Given the description of an element on the screen output the (x, y) to click on. 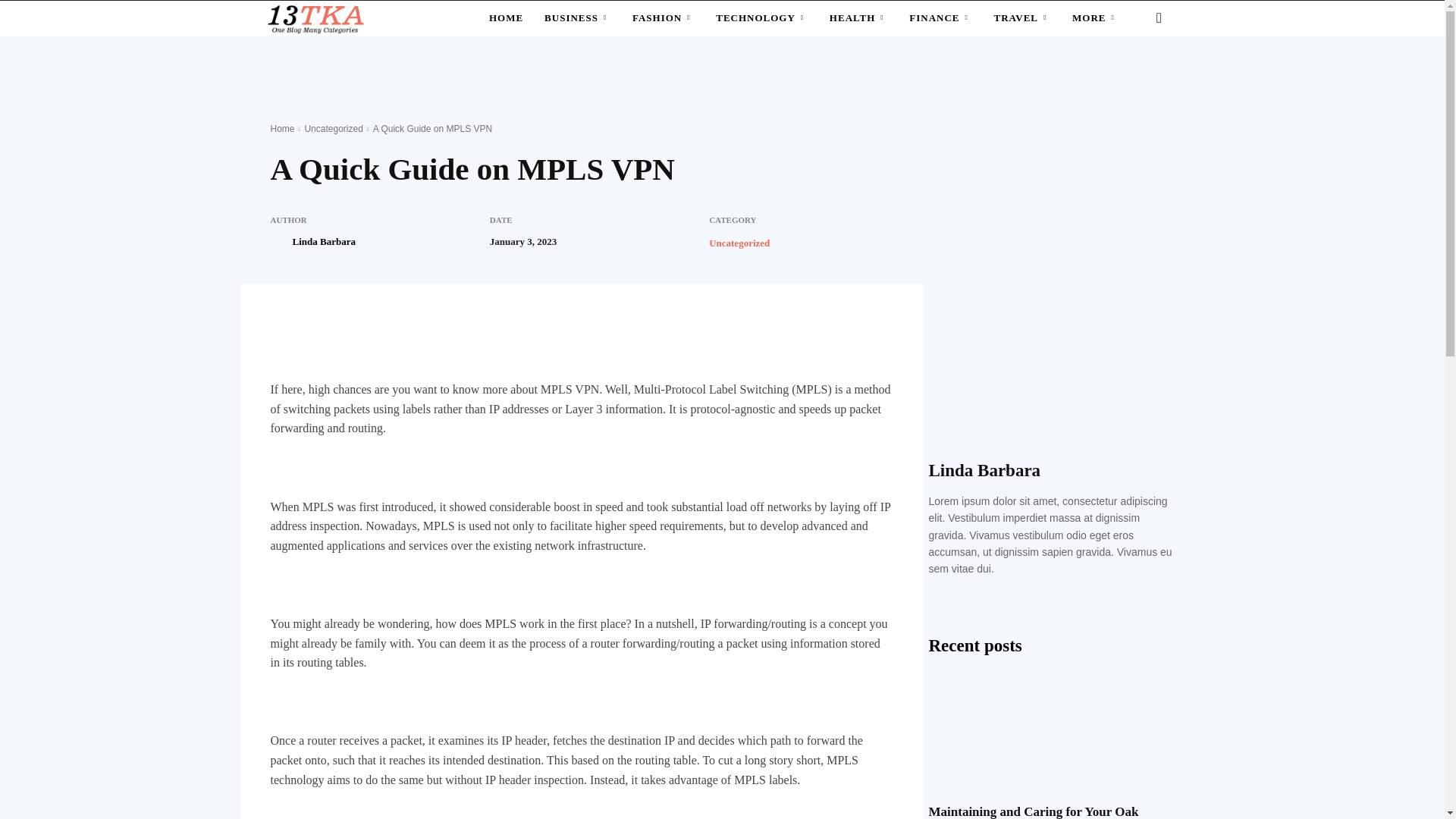
13TKA (314, 18)
BUSINESS (577, 18)
Search (1134, 78)
HOME (506, 18)
